Given the description of an element on the screen output the (x, y) to click on. 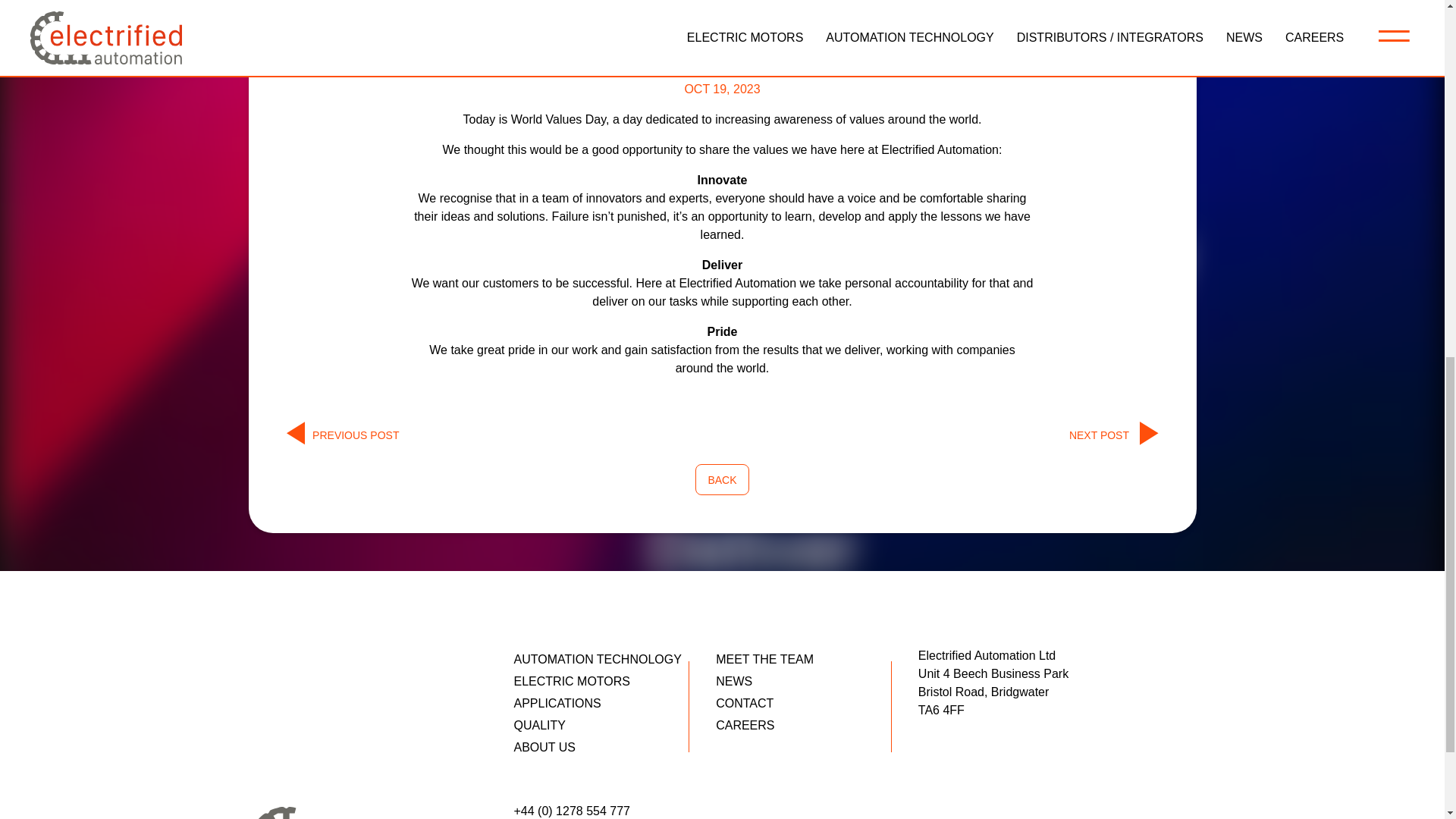
ABOUT US (614, 747)
BACK (721, 479)
NEXT POST (1113, 435)
NEWS (817, 681)
QUALITY (614, 725)
AUTOMATION TECHNOLOGY (614, 659)
MEET THE TEAM (817, 659)
CAREERS (817, 725)
APPLICATIONS (614, 703)
ELECTRIC MOTORS (614, 681)
PREVIOUS POST (342, 435)
CONTACT (817, 703)
